Given the description of an element on the screen output the (x, y) to click on. 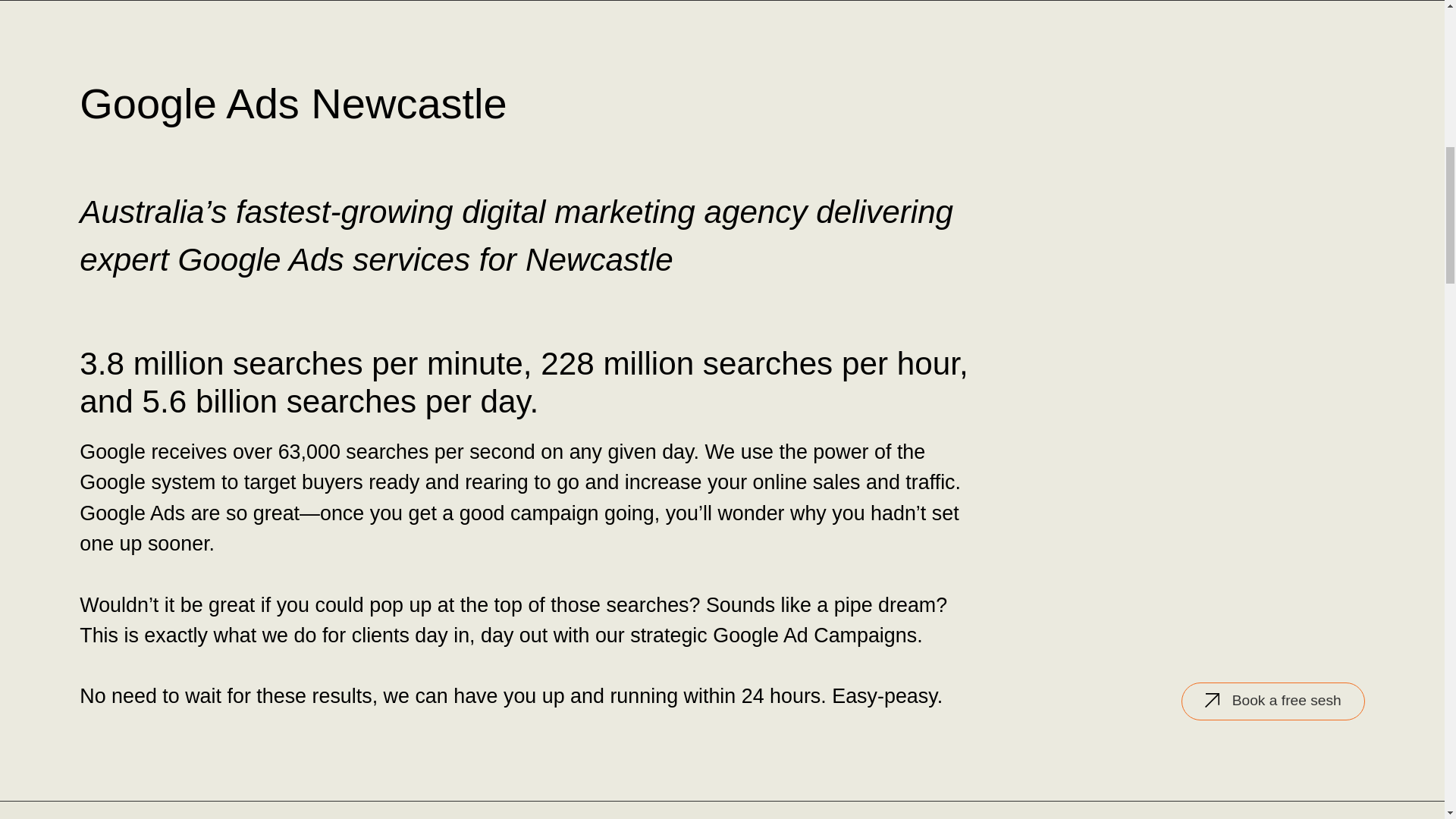
Google Ads services for Newcastle (424, 259)
Google Ads Newcastle (293, 103)
